Given the description of an element on the screen output the (x, y) to click on. 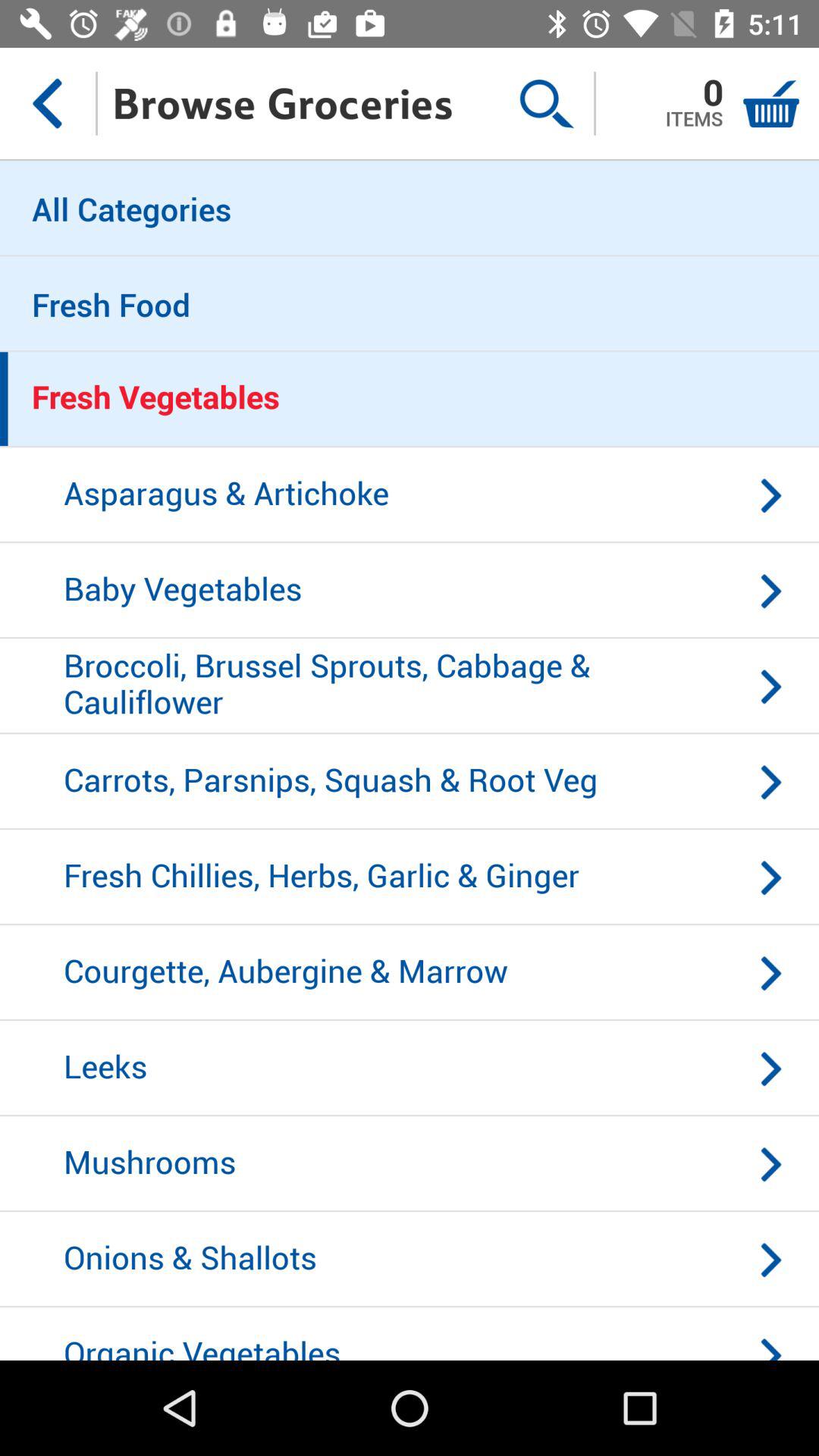
open the carrots parsnips squash item (409, 781)
